Given the description of an element on the screen output the (x, y) to click on. 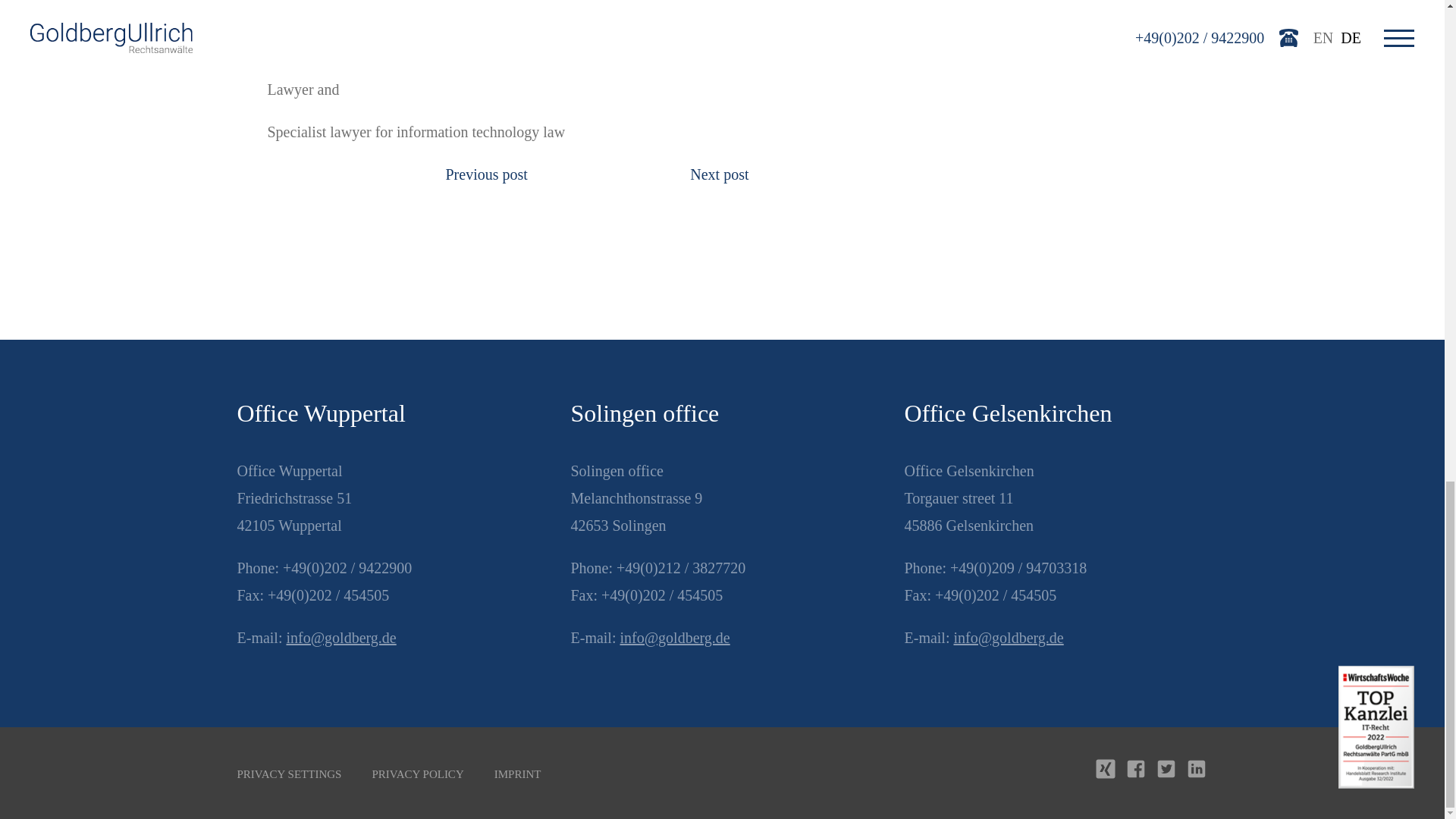
Next post (719, 174)
Previous post (486, 174)
PRIVACY SETTINGS (287, 774)
PRIVACY POLICY (417, 774)
